Given the description of an element on the screen output the (x, y) to click on. 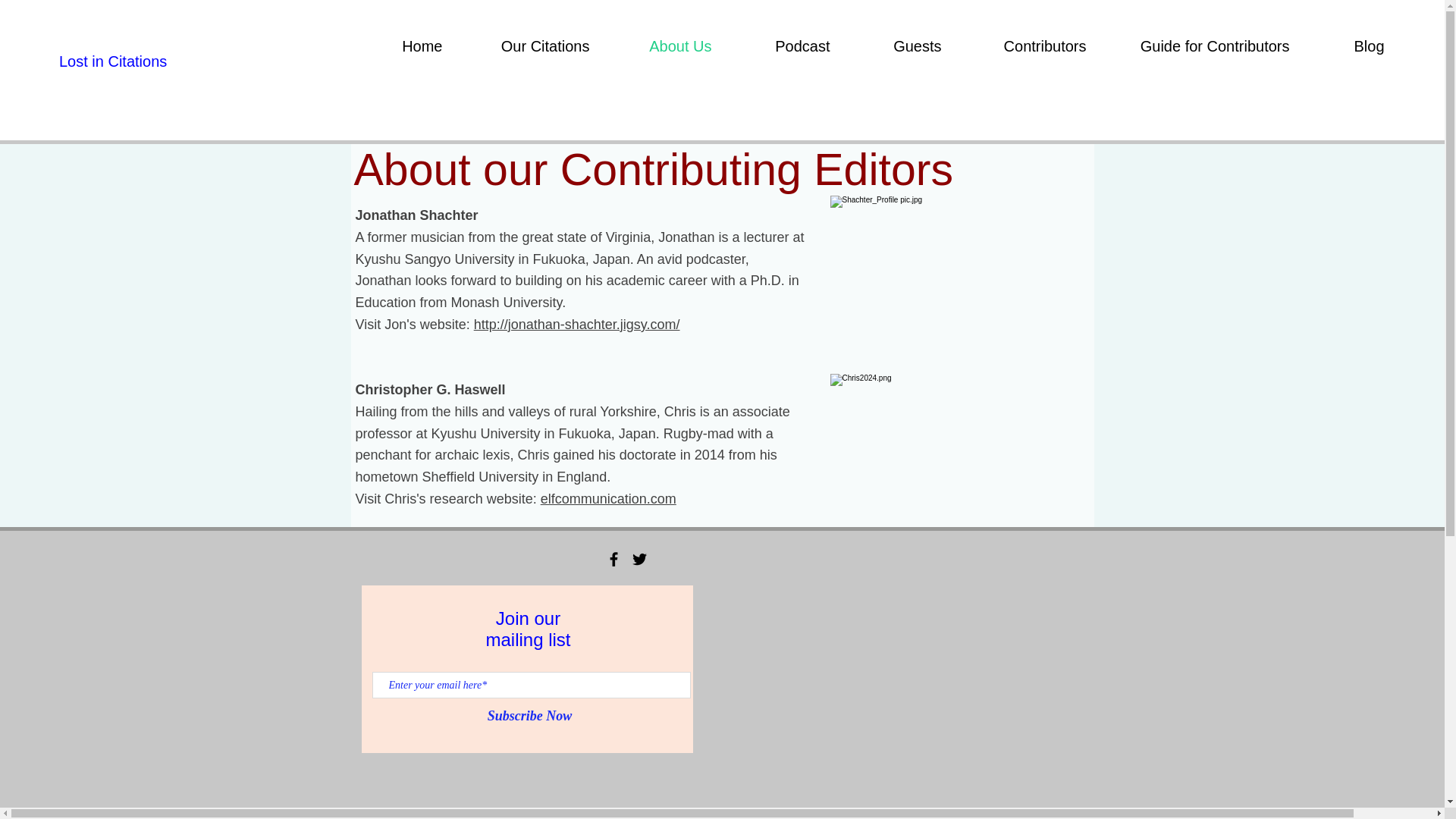
elfcommunication.com (608, 498)
Podcast (782, 46)
Contributors (1024, 46)
Blog (1348, 46)
Subscribe Now (529, 715)
Guide for Contributors (1199, 46)
Resources (1425, 46)
Guests (897, 46)
About Us (660, 46)
Home (401, 46)
Our Citations (525, 46)
Lost in Citations (191, 61)
